Given the description of an element on the screen output the (x, y) to click on. 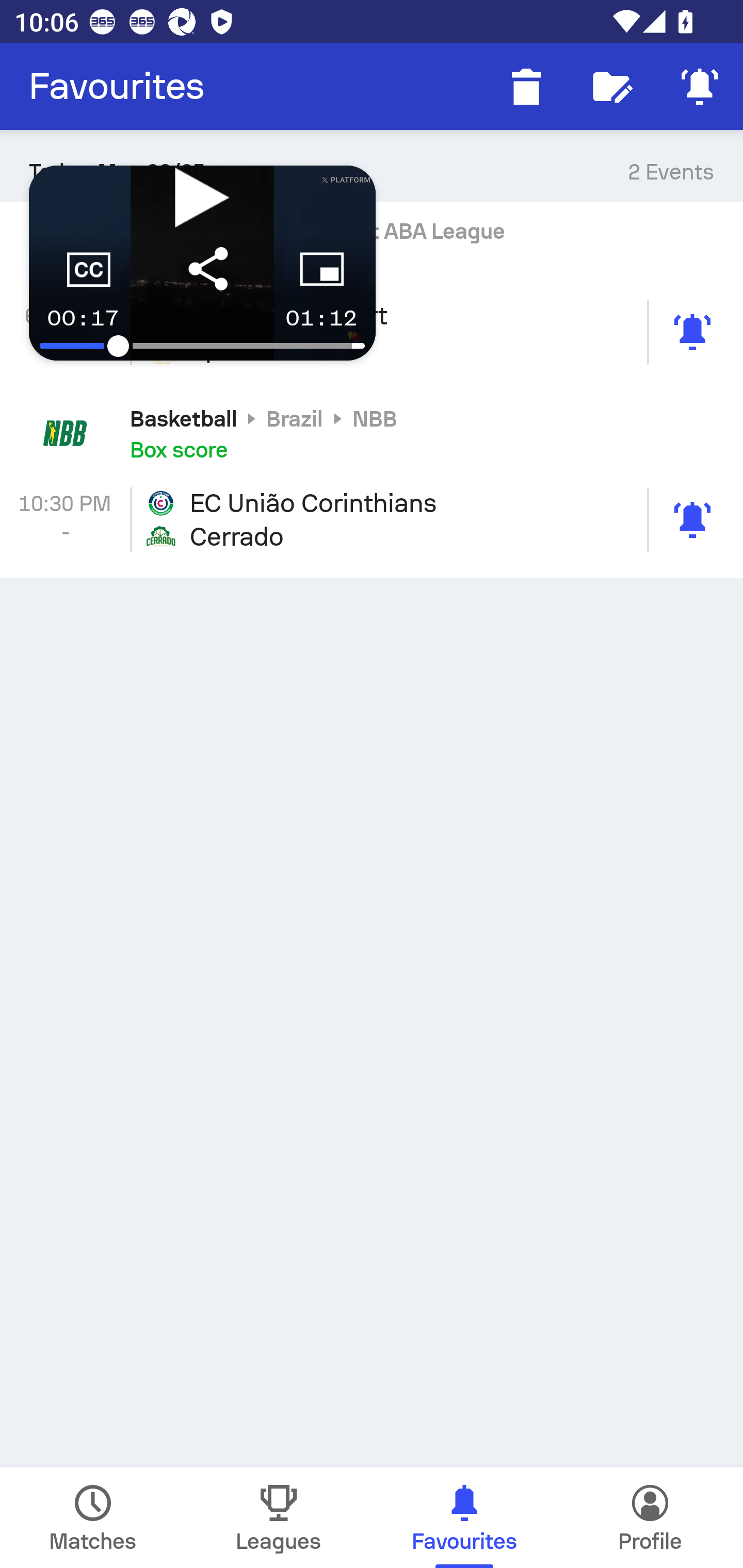
Favourites (116, 86)
Delete finished (525, 86)
Follow editor (612, 86)
Mute Notifications (699, 86)
Basketball Brazil NBB Box score (371, 433)
10:30 PM - EC União Corinthians Cerrado (371, 519)
Matches (92, 1517)
Leagues (278, 1517)
Profile (650, 1517)
